Given the description of an element on the screen output the (x, y) to click on. 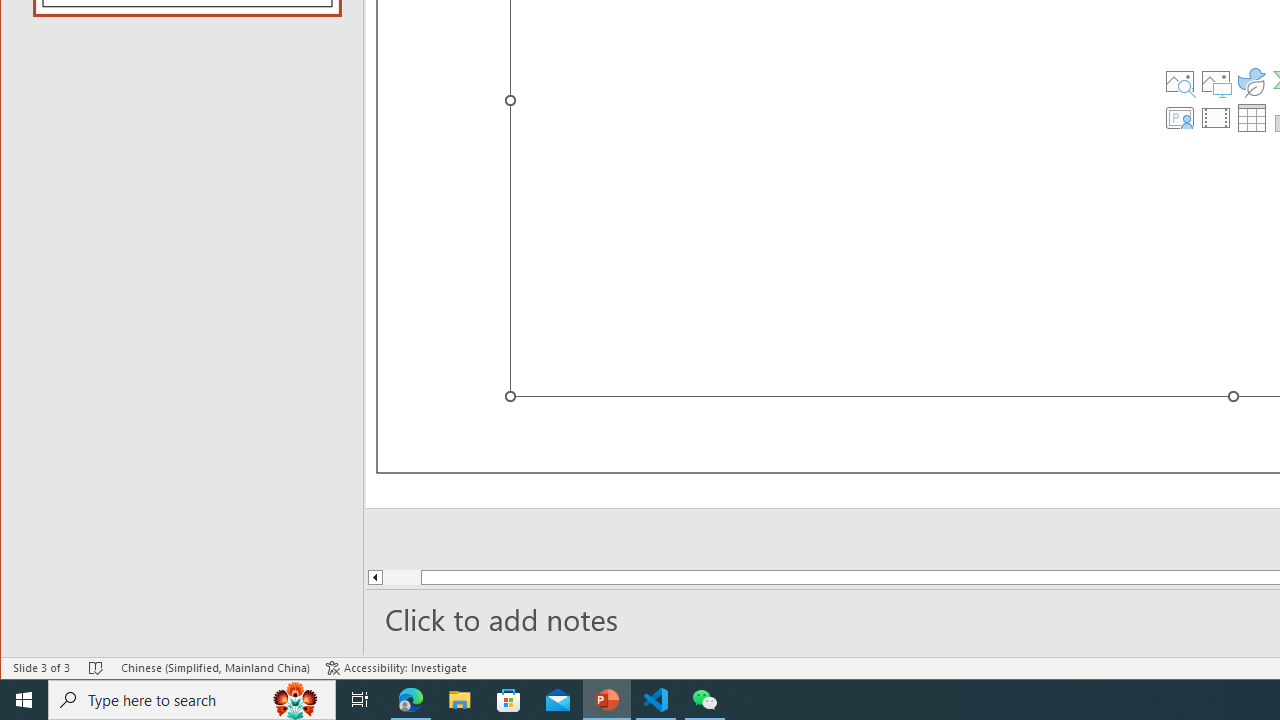
Microsoft Store (509, 699)
Spell Check No Errors (96, 668)
Start (24, 699)
Microsoft Edge - 1 running window (411, 699)
Page up (438, 577)
Visual Studio Code - 1 running window (656, 699)
